Given the description of an element on the screen output the (x, y) to click on. 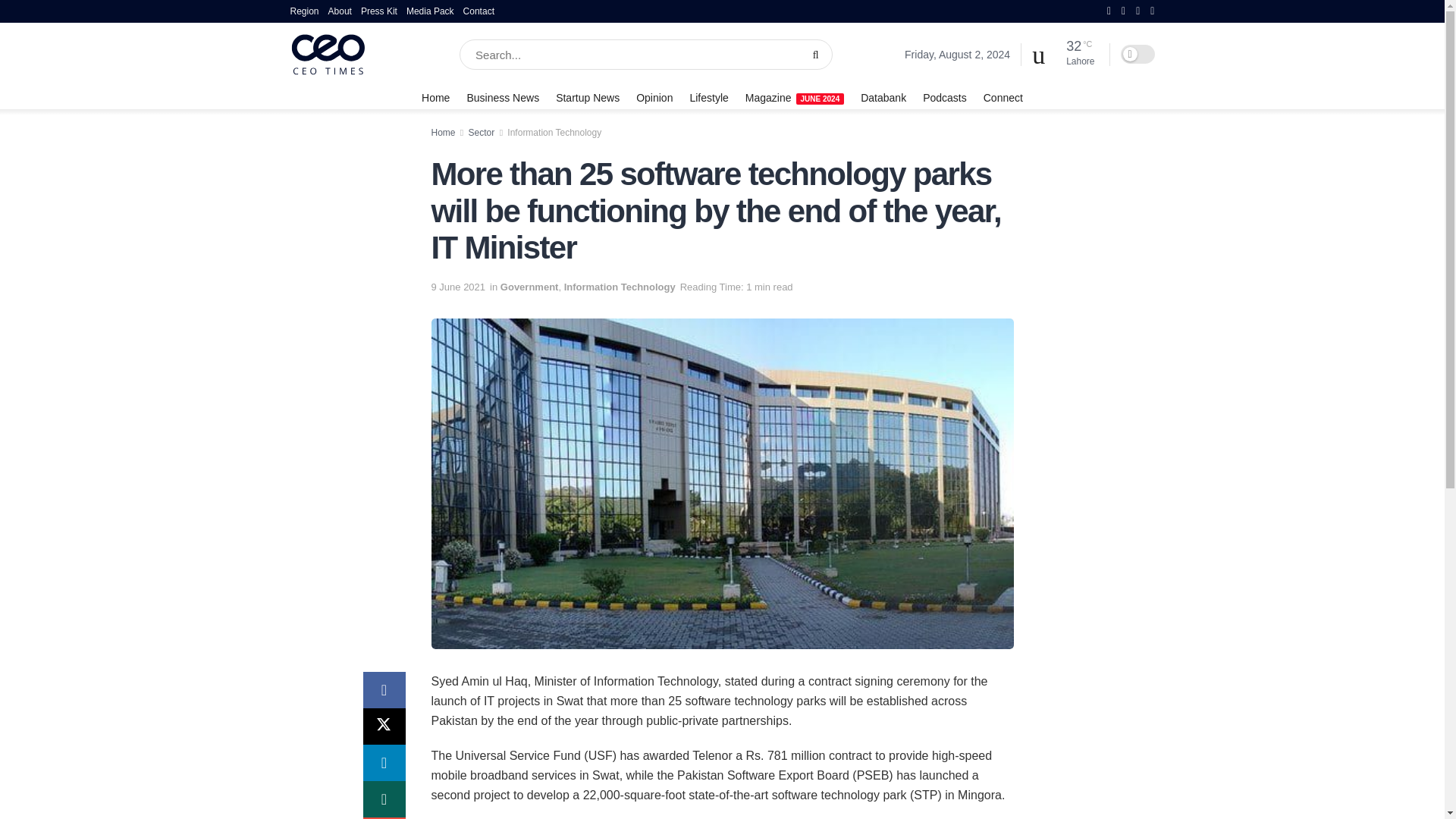
Press Kit (379, 11)
Startup News (588, 97)
Media Pack (430, 11)
MagazineJUNE 2024 (794, 97)
Region (303, 11)
Home (435, 97)
Contact (479, 11)
About (340, 11)
Connect (1003, 97)
Business News (501, 97)
Lifestyle (708, 97)
Databank (882, 97)
Podcasts (944, 97)
Opinion (654, 97)
